Given the description of an element on the screen output the (x, y) to click on. 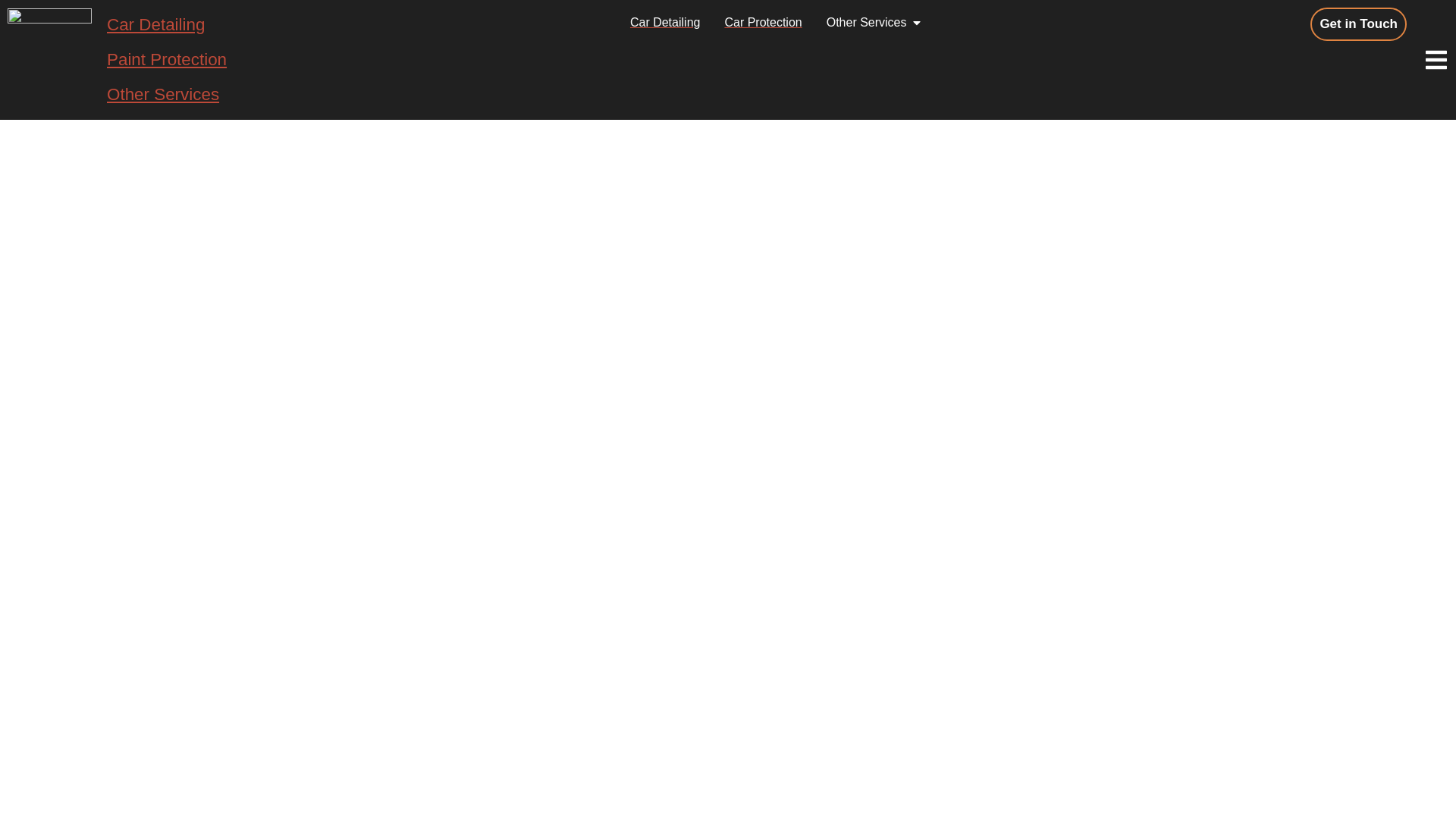
Paint Protection (166, 59)
Other Services (166, 94)
Car Detailing (665, 22)
Car Protection (762, 22)
Car Detailing (166, 24)
